Given the description of an element on the screen output the (x, y) to click on. 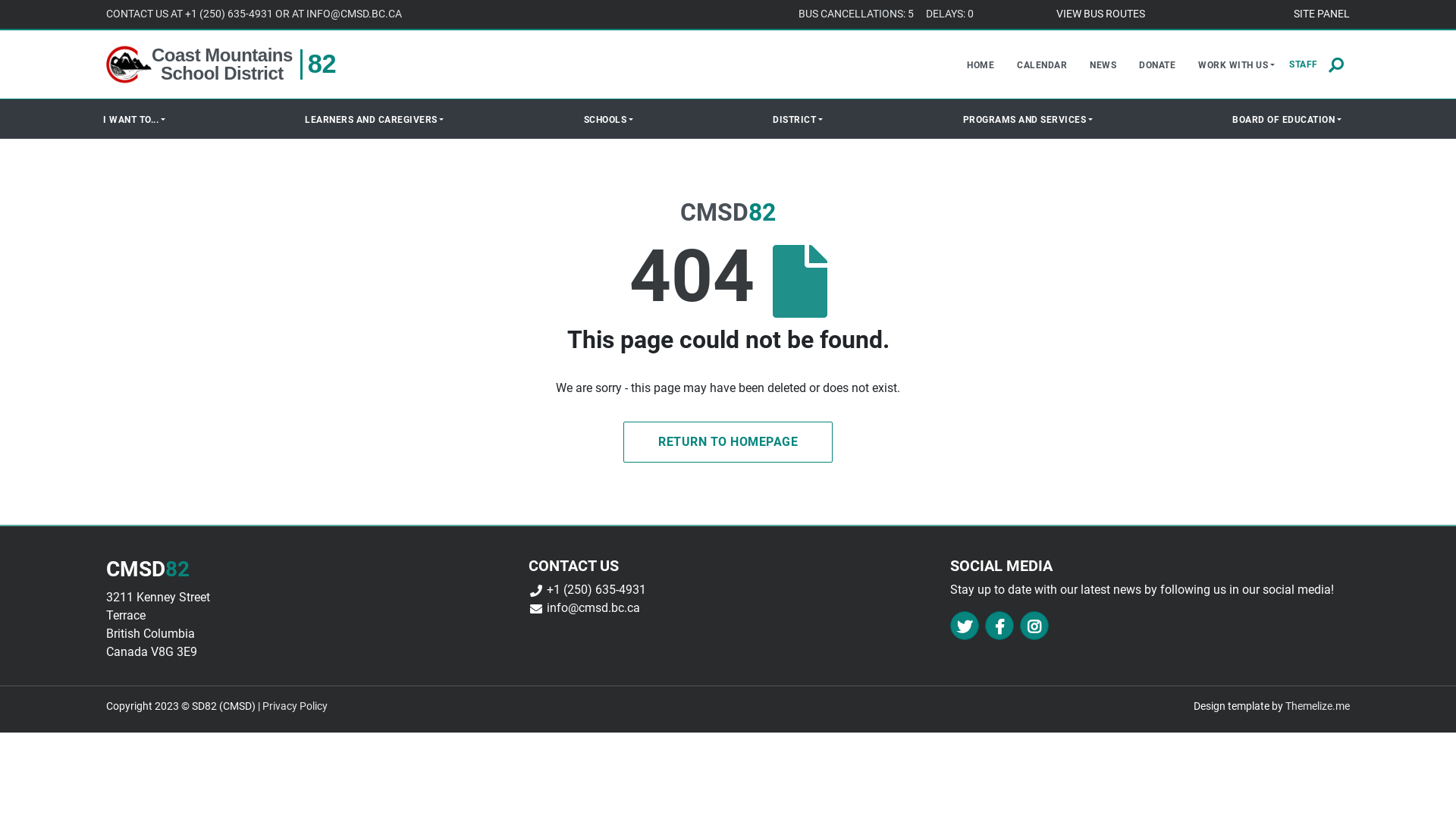
HOME Element type: text (980, 64)
SCHOOLS Element type: text (608, 118)
SITE PANEL Element type: text (1321, 13)
Phone Element type: hover (535, 589)
I WANT TO... Element type: text (133, 118)
BOARD OF EDUCATION Element type: text (1286, 118)
Email Element type: hover (535, 607)
DISTRICT Element type: text (797, 118)
Themelize.me Element type: text (1317, 705)
FA TWITTER Element type: text (964, 625)
STAFF Element type: text (1303, 64)
CALENDAR Element type: text (1041, 64)
FA FACEBOOK F Element type: text (999, 625)
Privacy Policy Element type: text (294, 705)
Coast Mountains
School District Element type: text (221, 64)
DONATE Element type: text (1156, 64)
82 Element type: text (321, 63)
LEARNERS AND CAREGIVERS Element type: text (373, 118)
FA INSTAGRAM Element type: text (1033, 625)
VIEW BUS ROUTES Element type: text (1099, 13)
PROGRAMS AND SERVICES Element type: text (1027, 118)
RETURN TO HOMEPAGE Element type: text (727, 441)
WORK WITH US Element type: text (1236, 64)
NEWS Element type: text (1102, 64)
CMSD82 Element type: hover (128, 64)
